Given the description of an element on the screen output the (x, y) to click on. 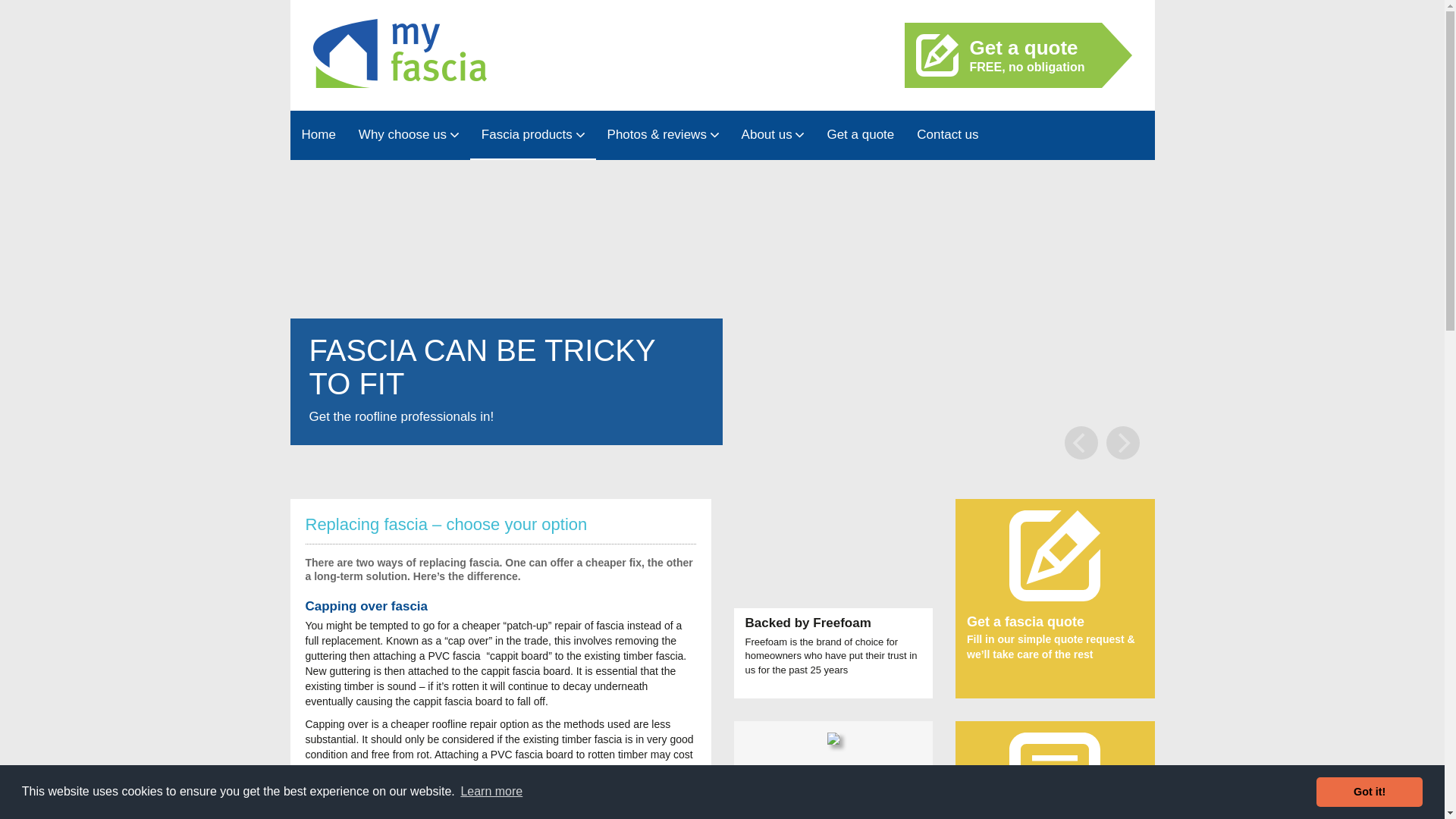
Get a quote (860, 134)
About us (1002, 54)
Learn more (772, 134)
Why choose us (491, 791)
Home (408, 134)
Fascia products (317, 134)
Got it! (532, 134)
